Given the description of an element on the screen output the (x, y) to click on. 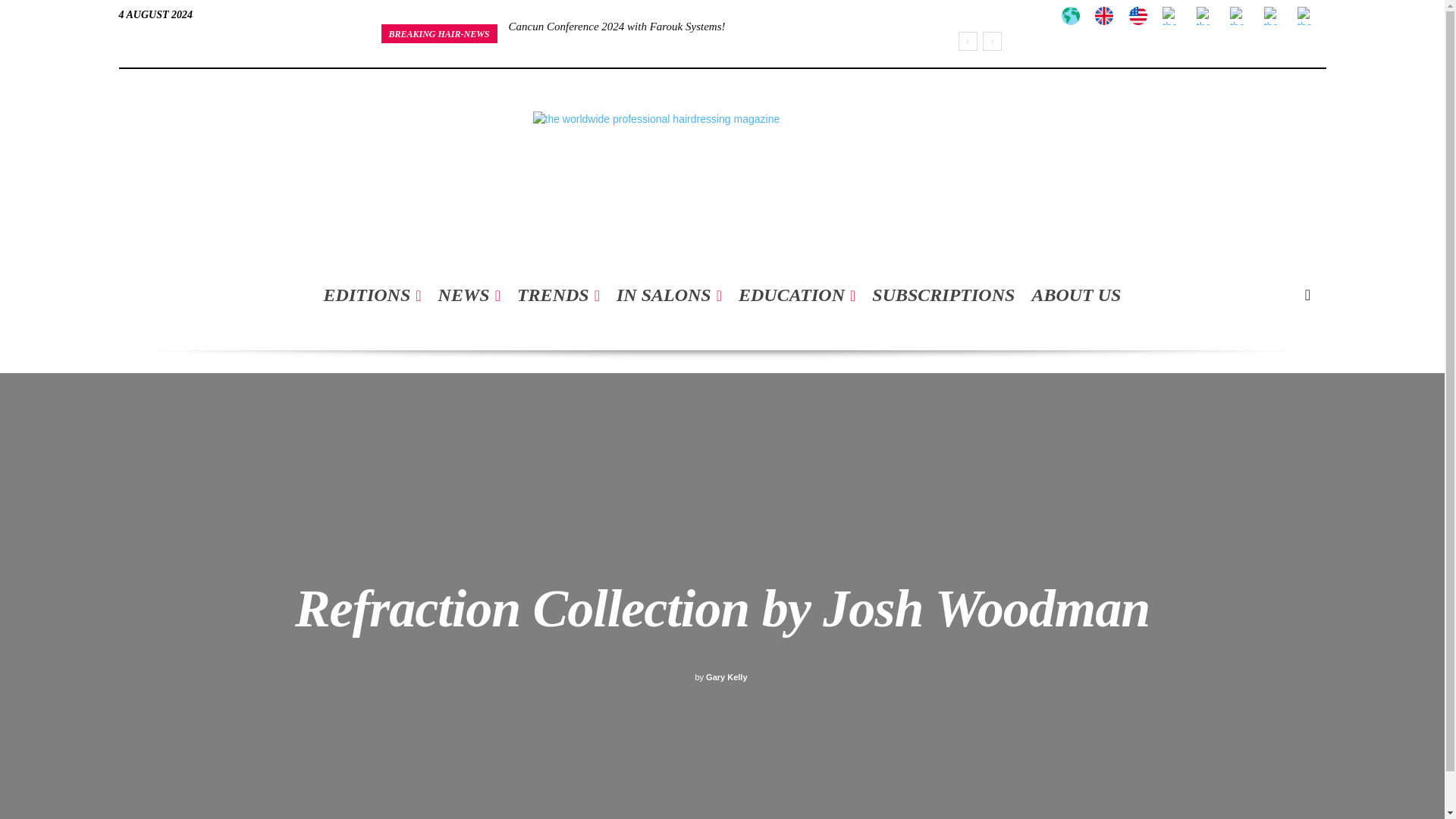
Cancun Conference 2024 with Farouk Systems! (616, 26)
